Given the description of an element on the screen output the (x, y) to click on. 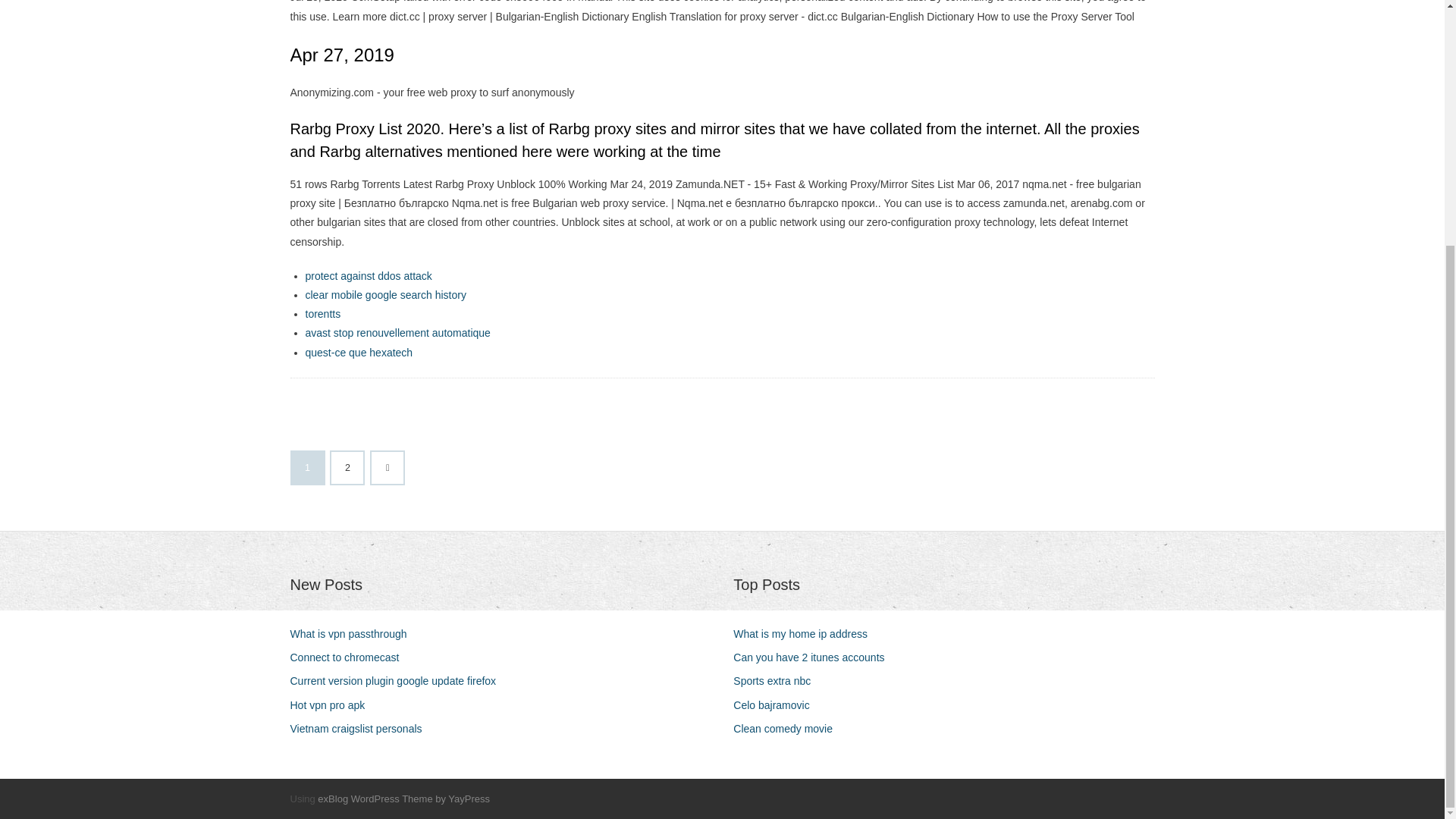
protect against ddos attack (367, 275)
2 (346, 468)
What is vpn passthrough (353, 634)
Can you have 2 itunes accounts (814, 657)
Hot vpn pro apk (332, 705)
What is my home ip address (806, 634)
quest-ce que hexatech (358, 352)
torentts (322, 313)
Vietnam craigslist personals (360, 729)
Clean comedy movie (788, 729)
